Given the description of an element on the screen output the (x, y) to click on. 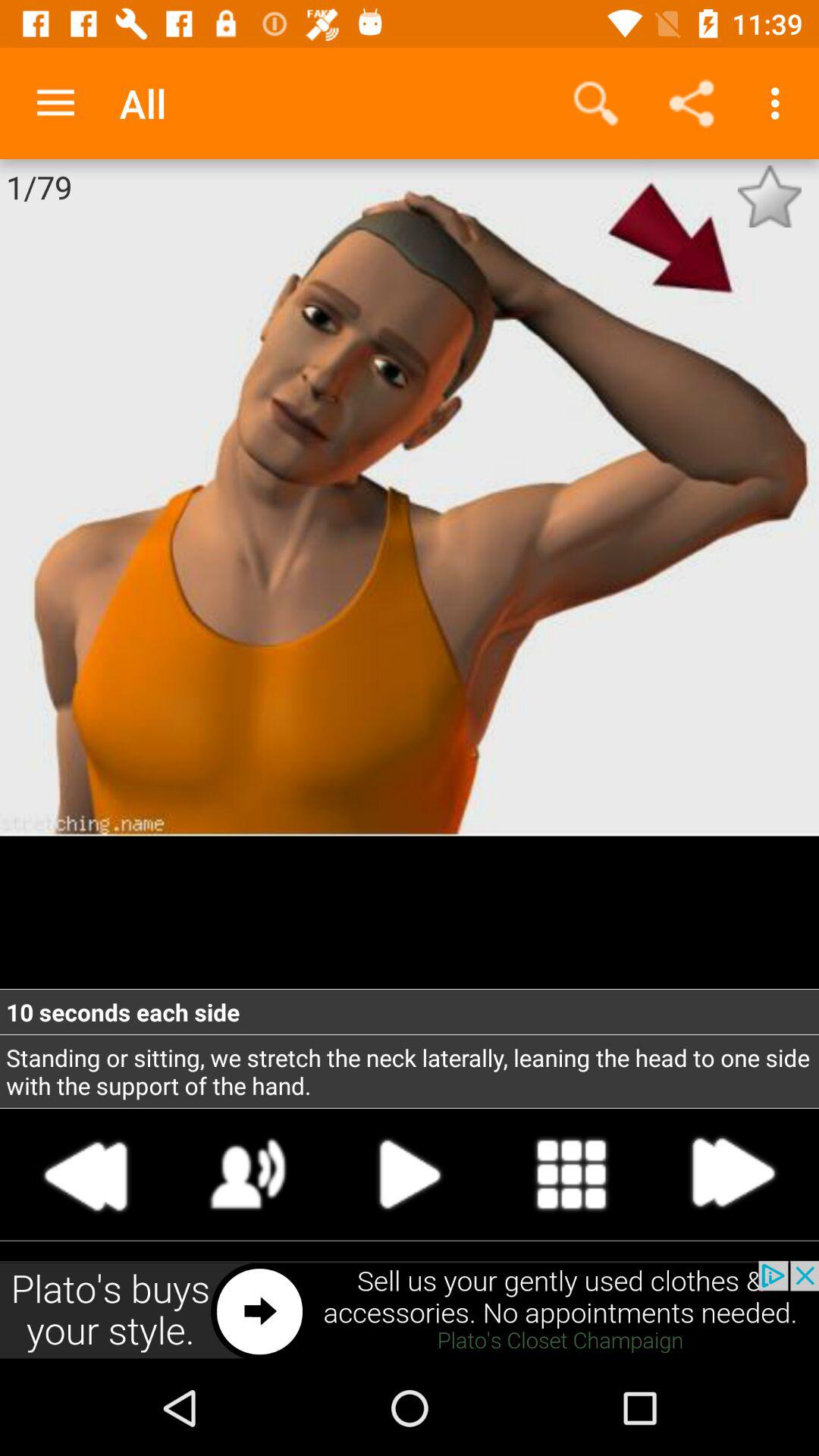
go back (86, 1174)
